Given the description of an element on the screen output the (x, y) to click on. 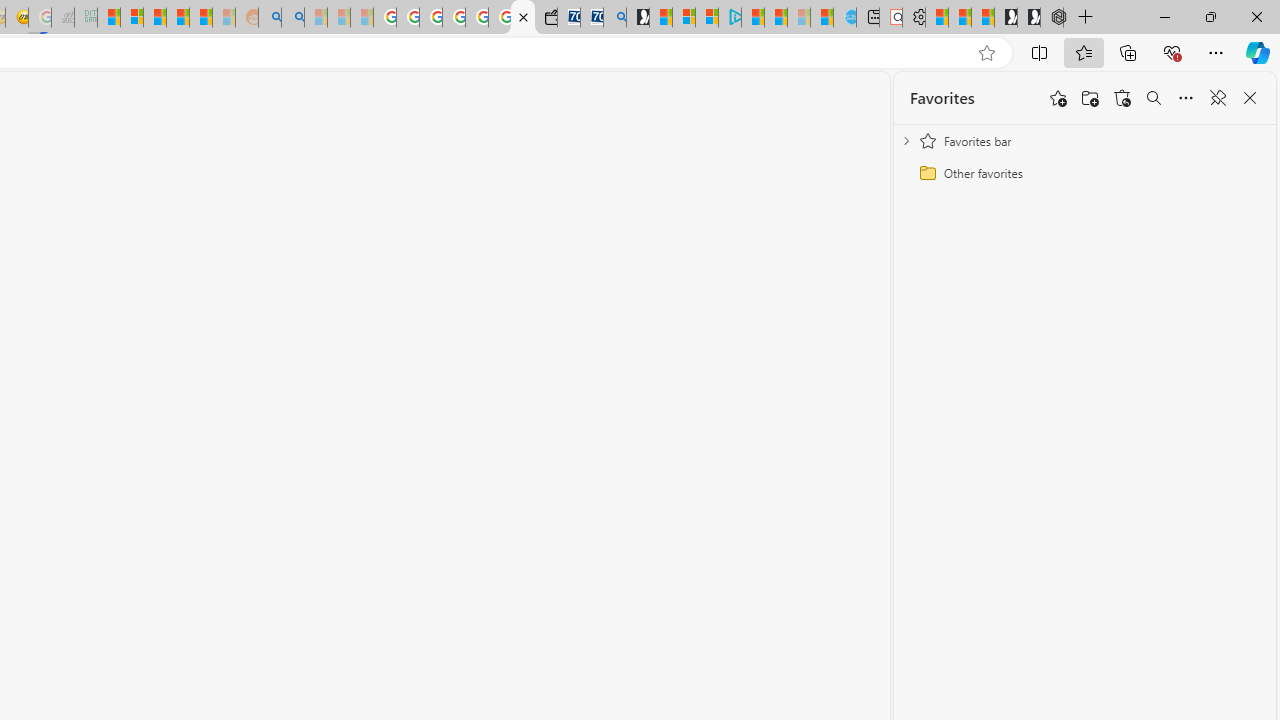
Microsoft Start Gaming (637, 17)
Navy Quest (63, 17)
Home | Sky Blue Bikes - Sky Blue Bikes (845, 17)
Student Loan Update: Forgiveness Program Ends This Month (200, 17)
Close favorites (1250, 98)
Wallet (545, 17)
